Given the description of an element on the screen output the (x, y) to click on. 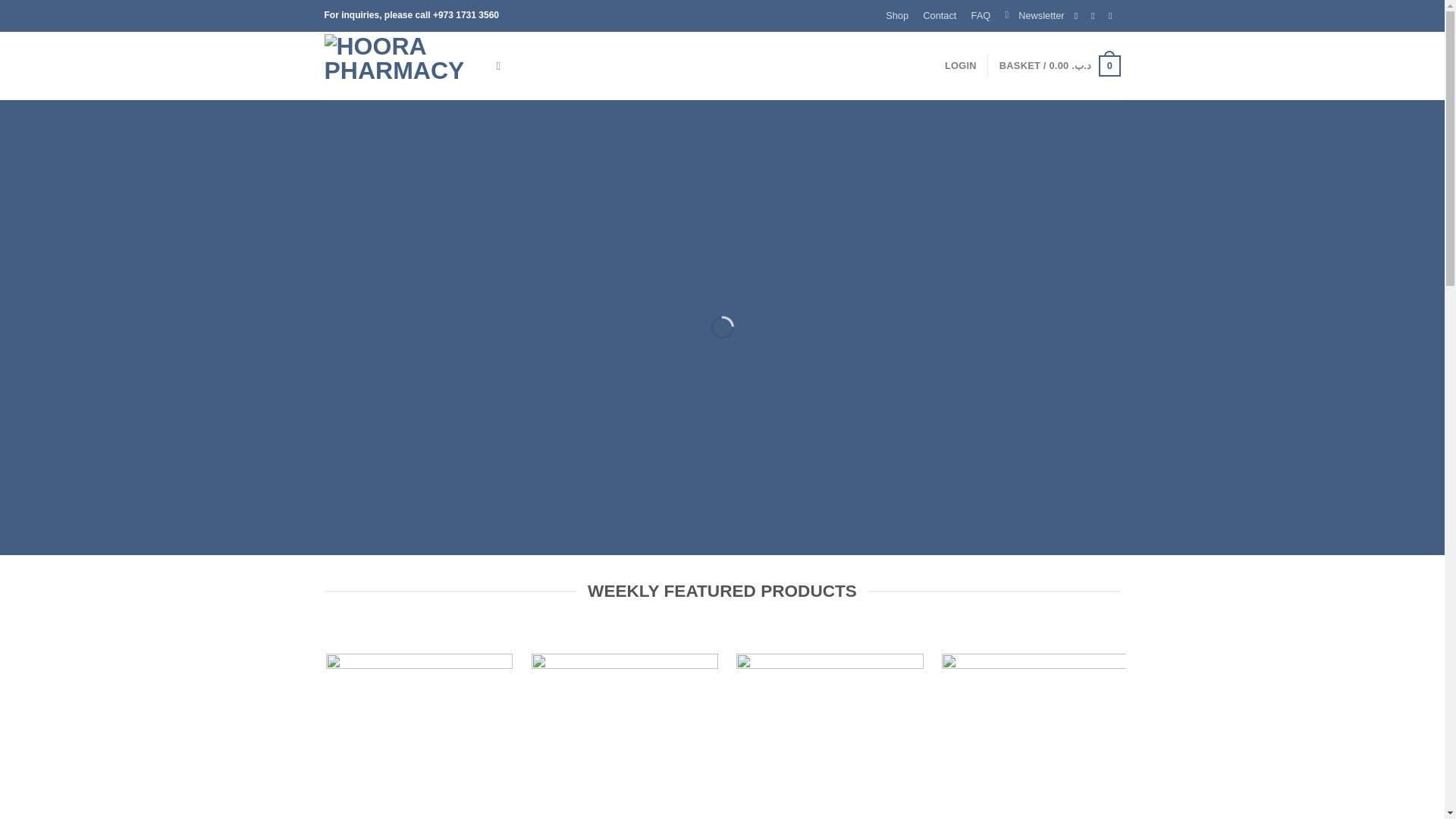
LOGIN (960, 65)
FAQ (980, 15)
Follow on Instagram (1096, 15)
Newsletter (1034, 15)
Follow on Facebook (1080, 15)
Contact (939, 15)
Hoora Pharmacy - Your one-stop shop for health and beauty (399, 65)
Basket (1059, 65)
Sign up for Newsletter (1034, 15)
Shop (897, 15)
